Given the description of an element on the screen output the (x, y) to click on. 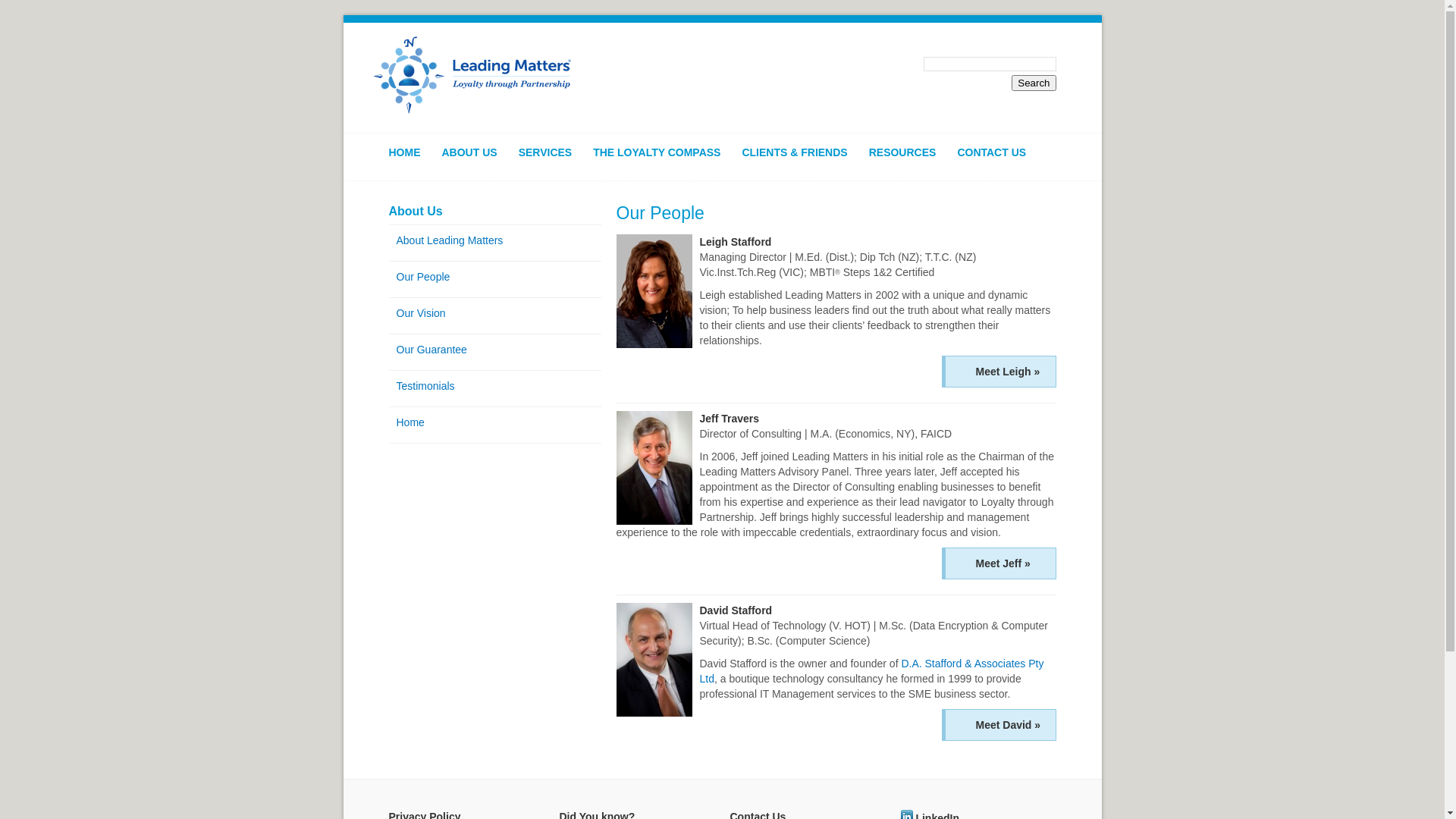
ABOUT US Element type: text (476, 159)
CLIENTS & FRIENDS Element type: text (801, 159)
Home Element type: text (494, 422)
Our Guarantee Element type: text (494, 349)
SERVICES Element type: text (552, 159)
RESOURCES Element type: text (910, 159)
Our People Element type: text (494, 276)
CONTACT US Element type: text (999, 159)
Testimonials Element type: text (494, 385)
THE LOYALTY COMPASS Element type: text (664, 159)
Back Home Element type: hover (472, 75)
D.A. Stafford & Associates Pty Ltd Element type: text (871, 670)
Search Element type: text (1033, 83)
Our Vision Element type: text (494, 313)
HOME Element type: text (411, 159)
About Leading Matters Element type: text (494, 240)
